Given the description of an element on the screen output the (x, y) to click on. 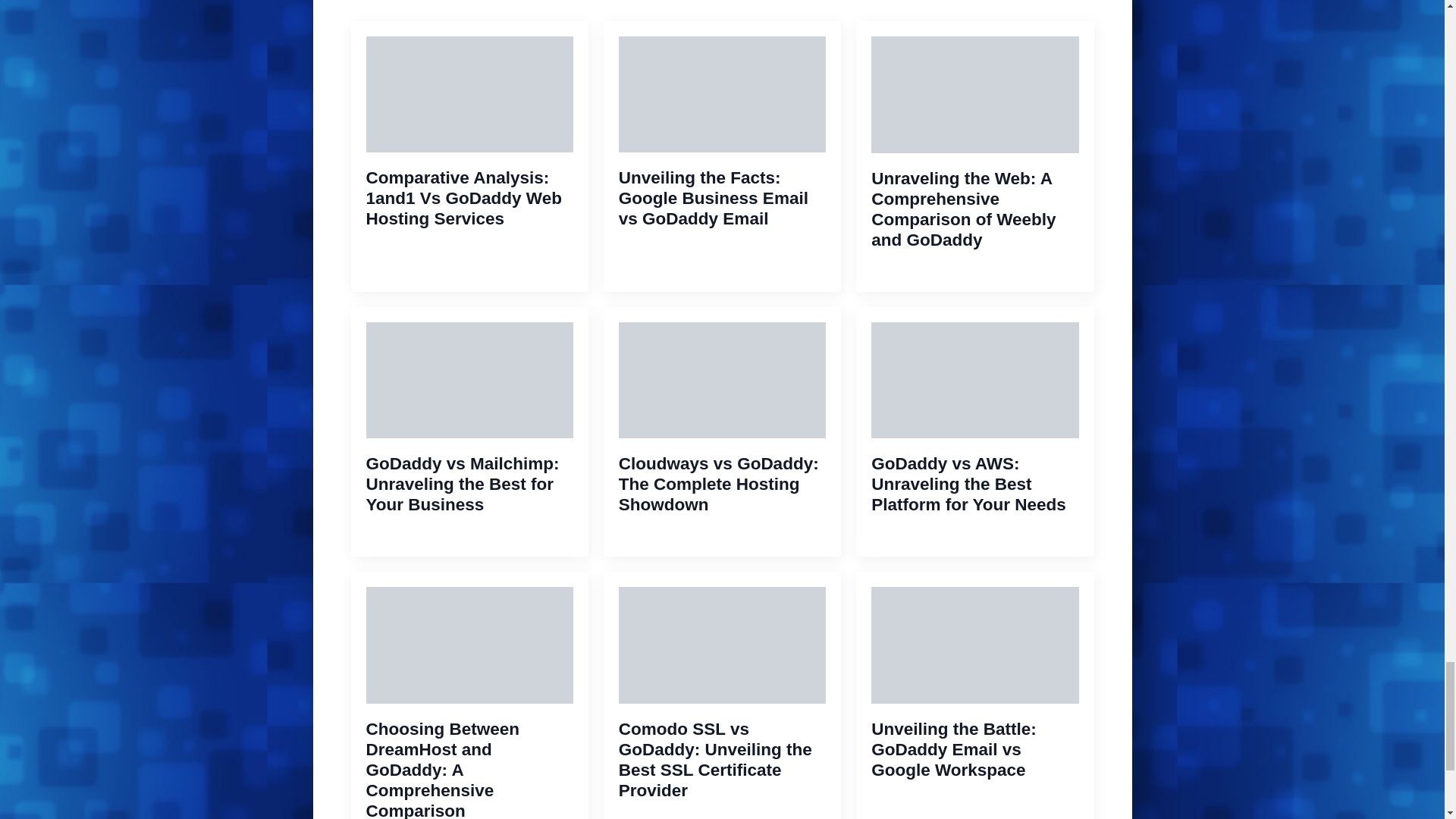
GoDaddy vs Mailchimp: Unraveling the Best for Your Business (468, 484)
GoDaddy vs AWS: Unraveling the Best Platform for Your Needs (974, 484)
Comparative Analysis: 1and1 Vs GoDaddy Web Hosting Services (468, 198)
Unveiling the Facts: Google Business Email vs GoDaddy Email (721, 198)
Cloudways vs GoDaddy: The Complete Hosting Showdown (721, 484)
